Given the description of an element on the screen output the (x, y) to click on. 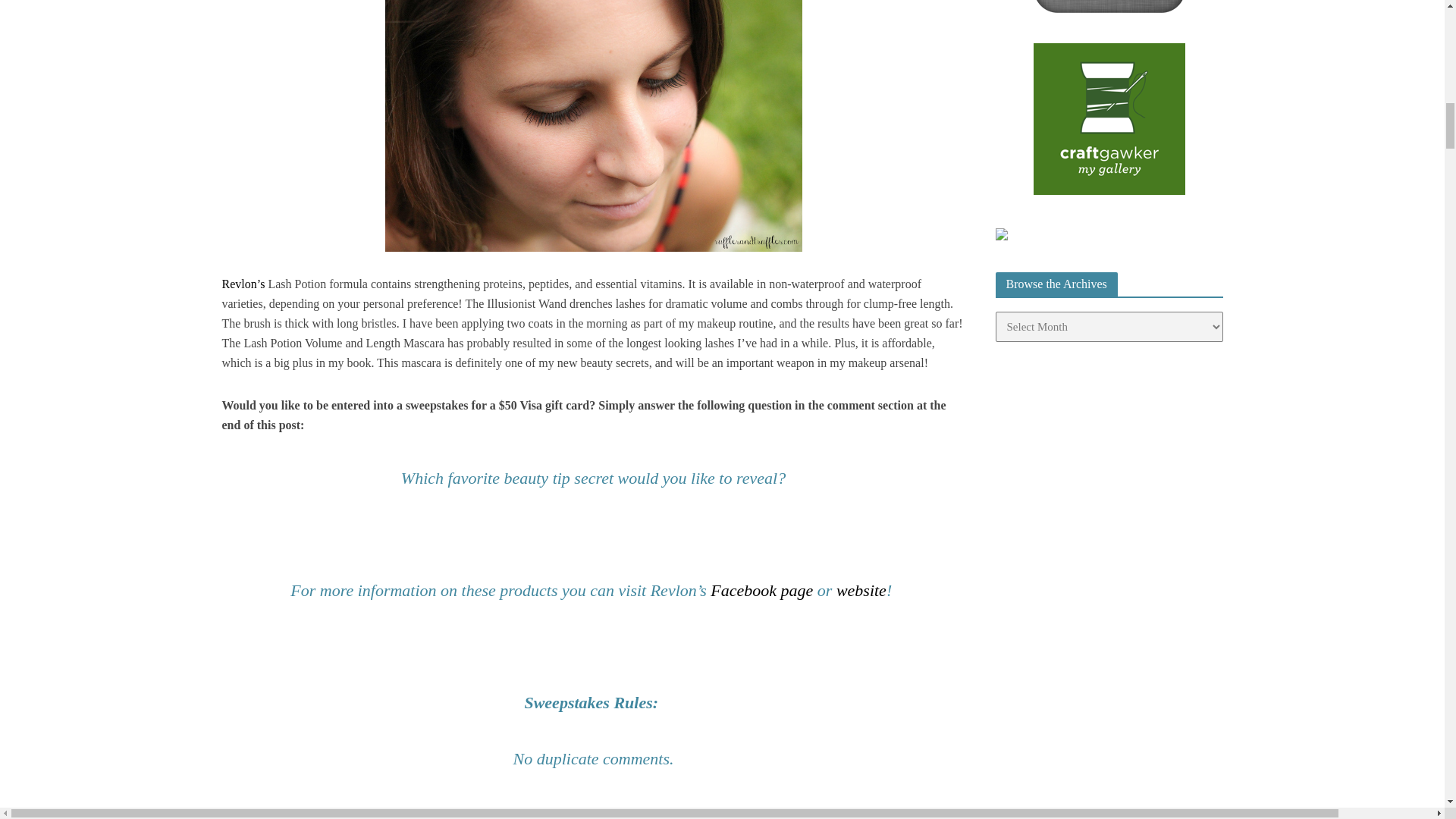
my craftgawker gallery (1108, 117)
